Given the description of an element on the screen output the (x, y) to click on. 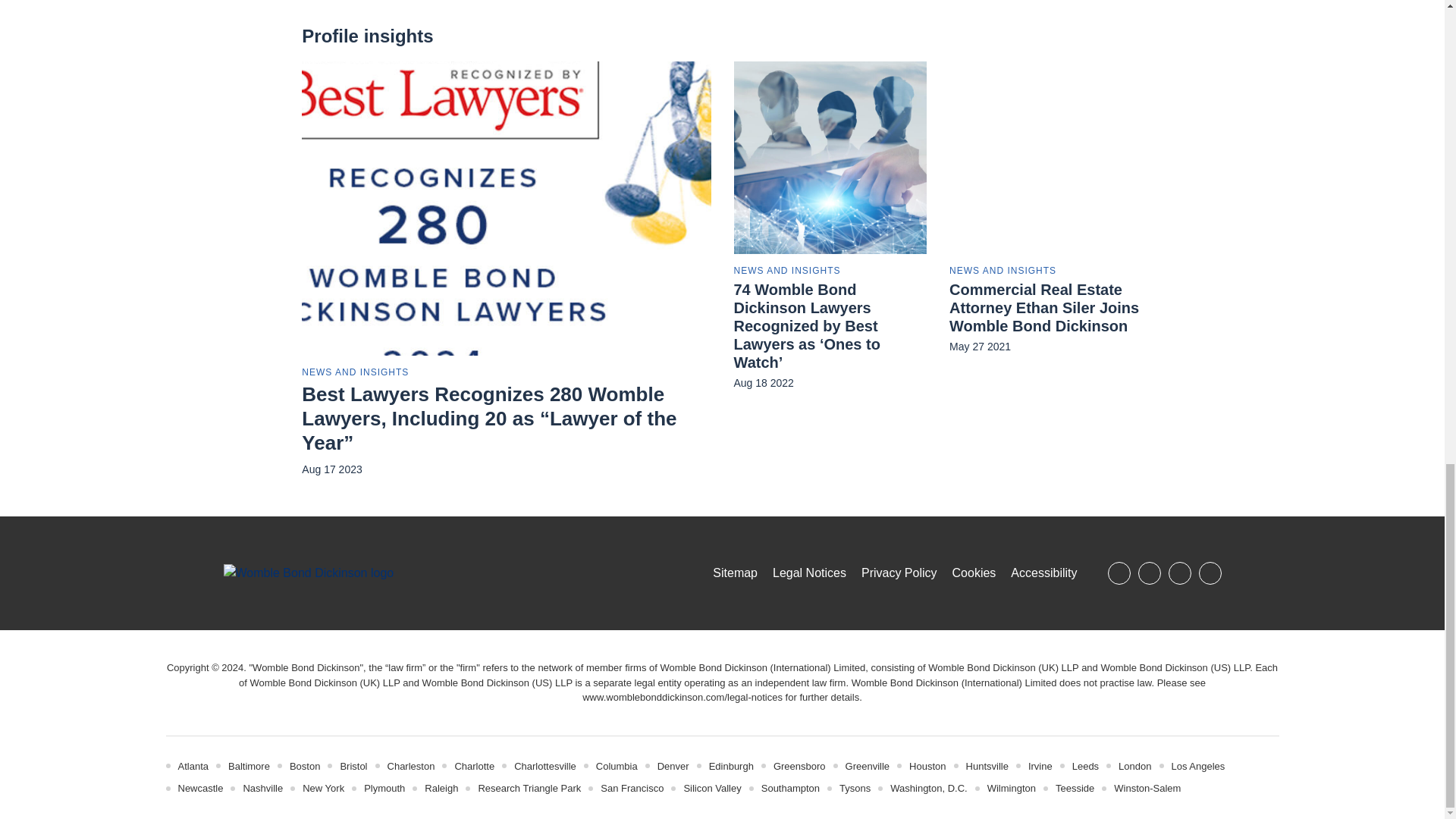
Irvine, CA, US  (1039, 766)
Bristol (352, 766)
Baltimore, MD, US (248, 766)
Boston, MA, US (304, 766)
Charlottesville, VA, US (544, 766)
Denver, CO, US (673, 766)
Greensboro, NC, US (799, 766)
Greenville, SC, US (867, 766)
Legal Notices (682, 696)
Houston, TX, US (926, 766)
